Given the description of an element on the screen output the (x, y) to click on. 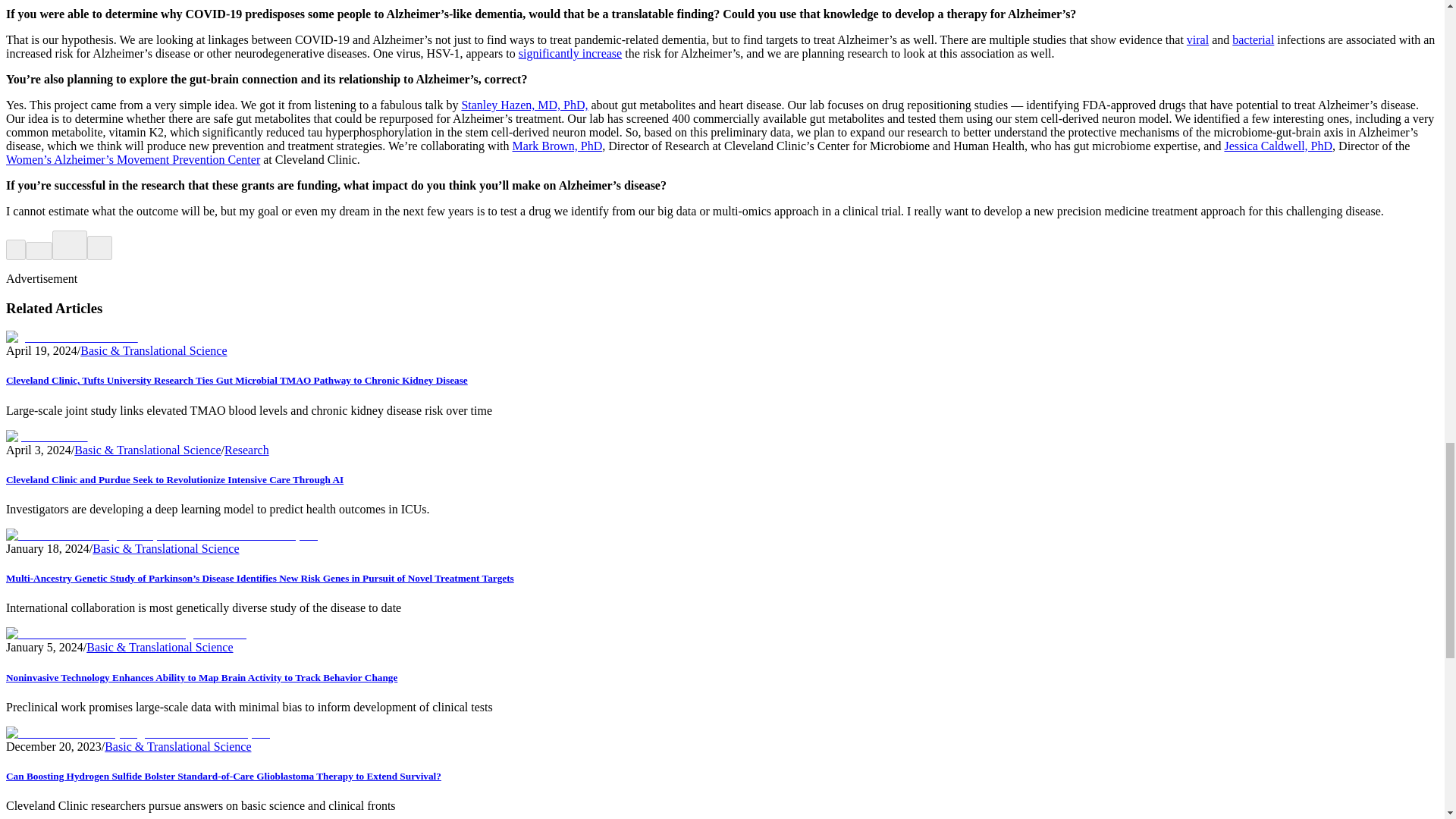
bacterial (1252, 39)
significan (542, 52)
viral (1197, 39)
